Given the description of an element on the screen output the (x, y) to click on. 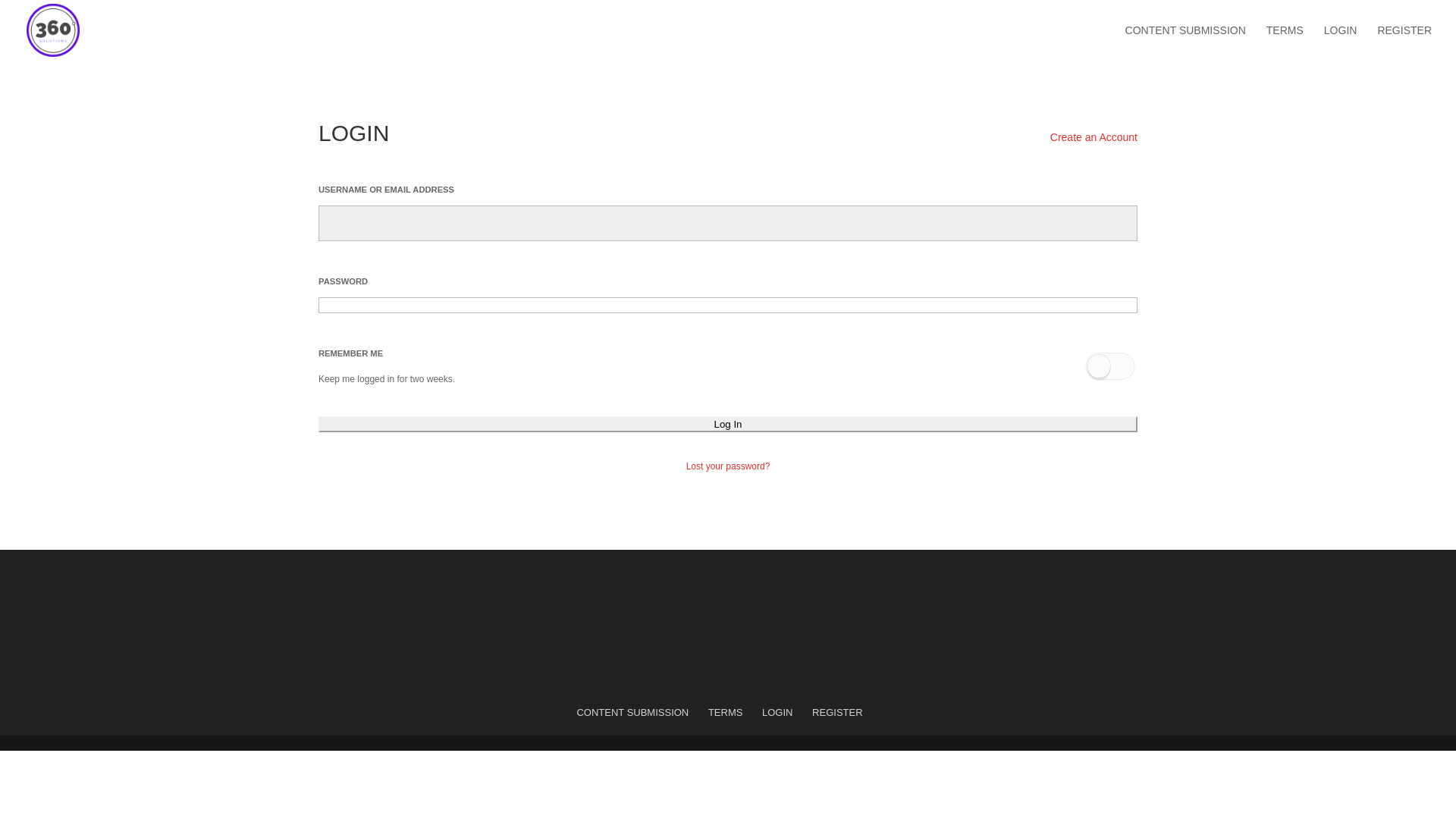
TERMS Element type: text (1284, 42)
Lost your password? Element type: text (727, 466)
CONTENT SUBMISSION Element type: text (1185, 42)
REGISTER Element type: text (1404, 42)
Log In Element type: text (727, 424)
CONTENT SUBMISSION Element type: text (632, 712)
LOGIN Element type: text (1340, 42)
Create an Account Element type: text (1093, 137)
LOGIN Element type: text (777, 712)
REGISTER Element type: text (837, 712)
TERMS Element type: text (725, 712)
